Given the description of an element on the screen output the (x, y) to click on. 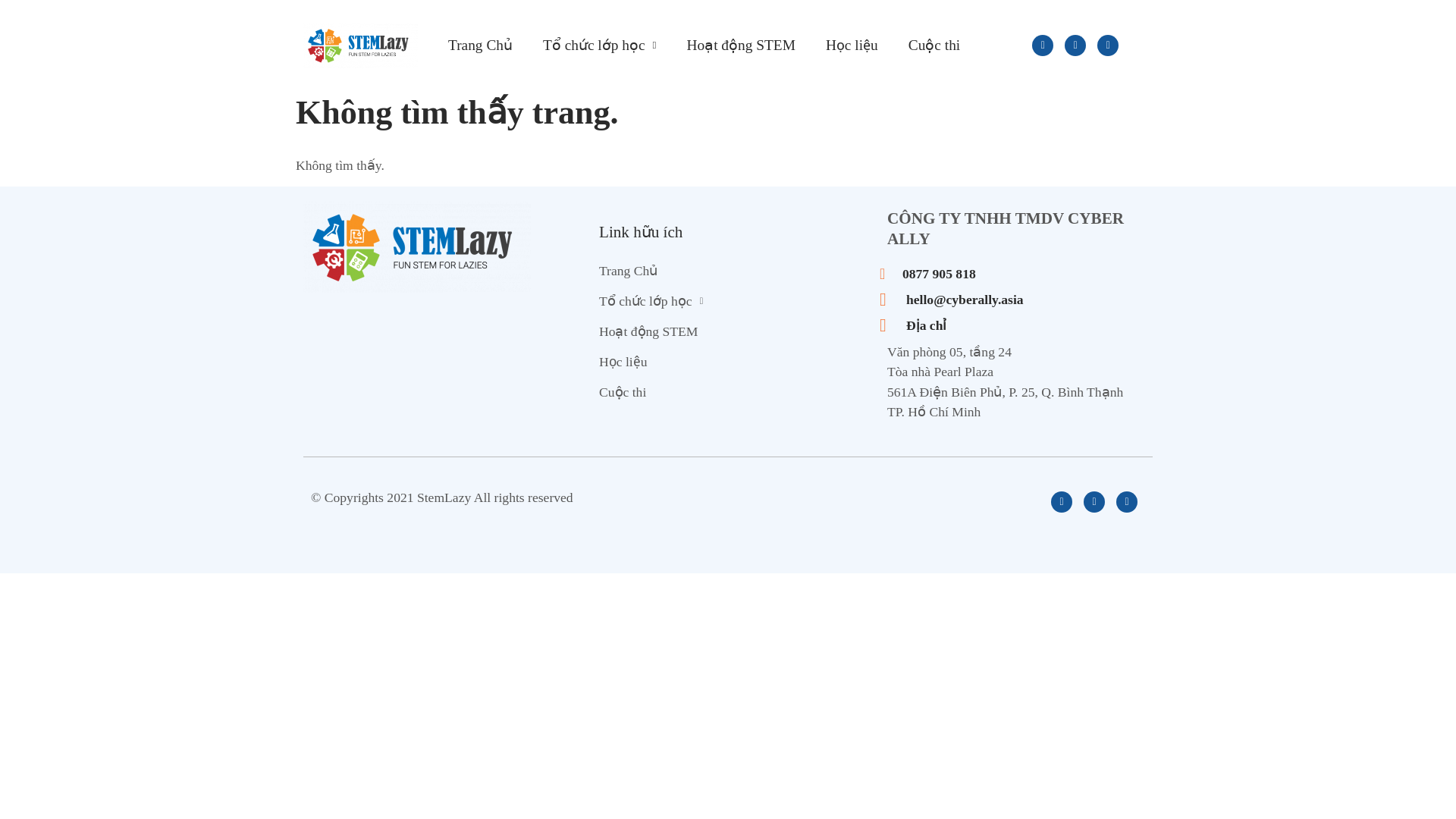
0877 905 818 (1016, 273)
